Given the description of an element on the screen output the (x, y) to click on. 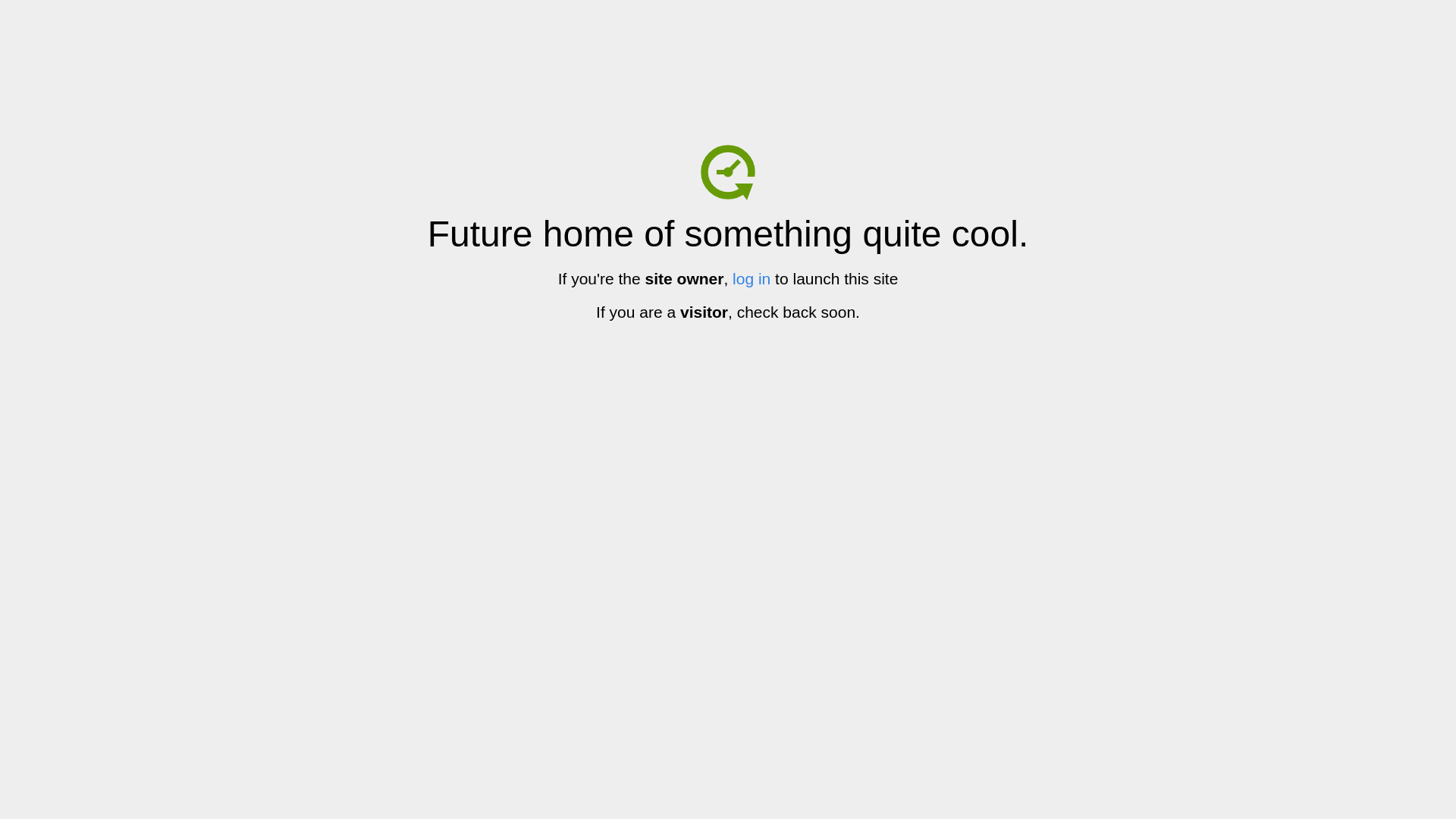
log in Element type: text (751, 278)
